Given the description of an element on the screen output the (x, y) to click on. 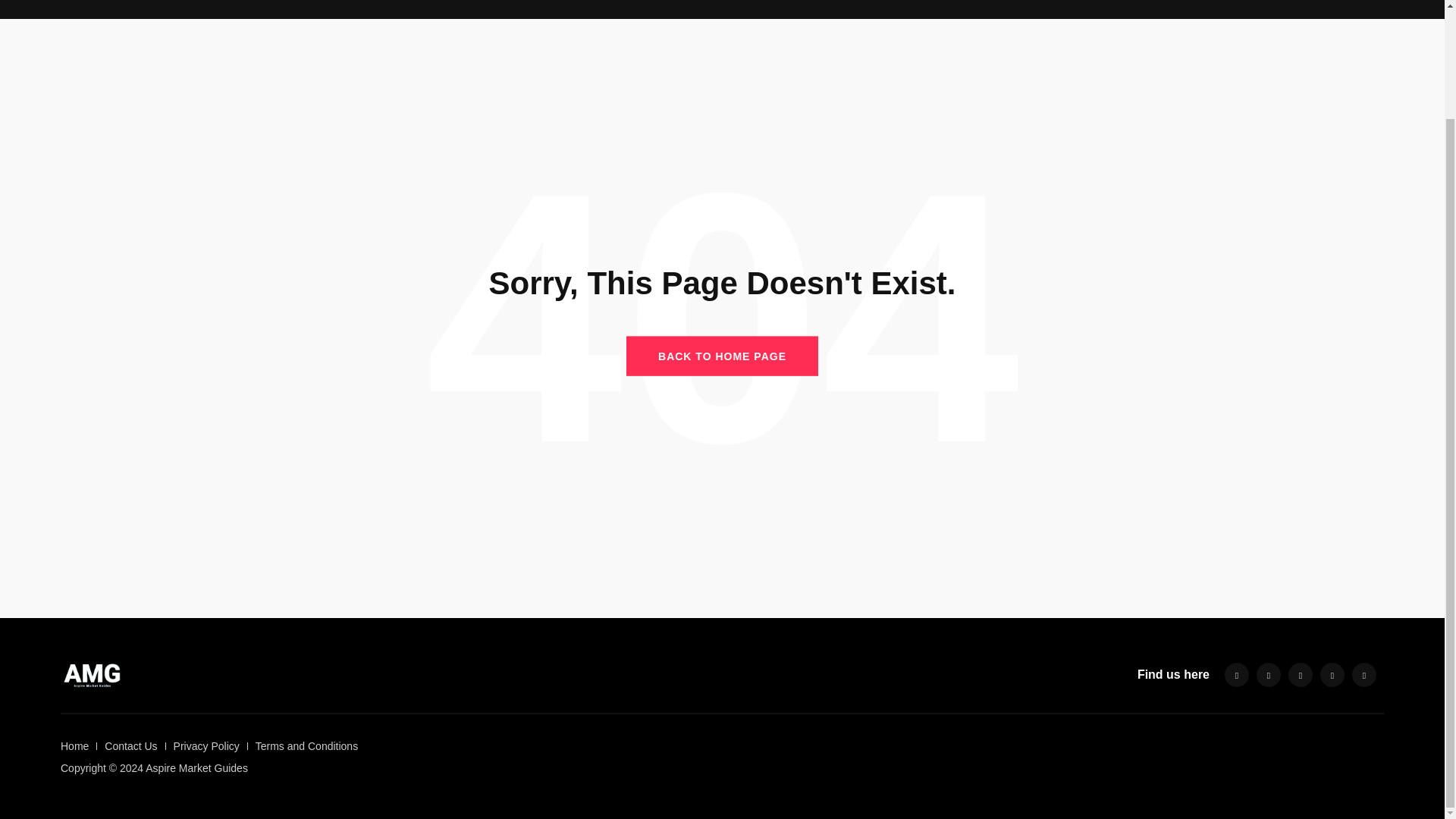
Cryptocurrency (545, 5)
Contact Us (130, 746)
Home (317, 5)
Economics (639, 5)
Real Estate (945, 5)
Mutual Funds (854, 5)
BACK TO HOME PAGE (722, 355)
Alternative Investments (419, 5)
Privacy Policy (206, 746)
Home (74, 746)
